Given the description of an element on the screen output the (x, y) to click on. 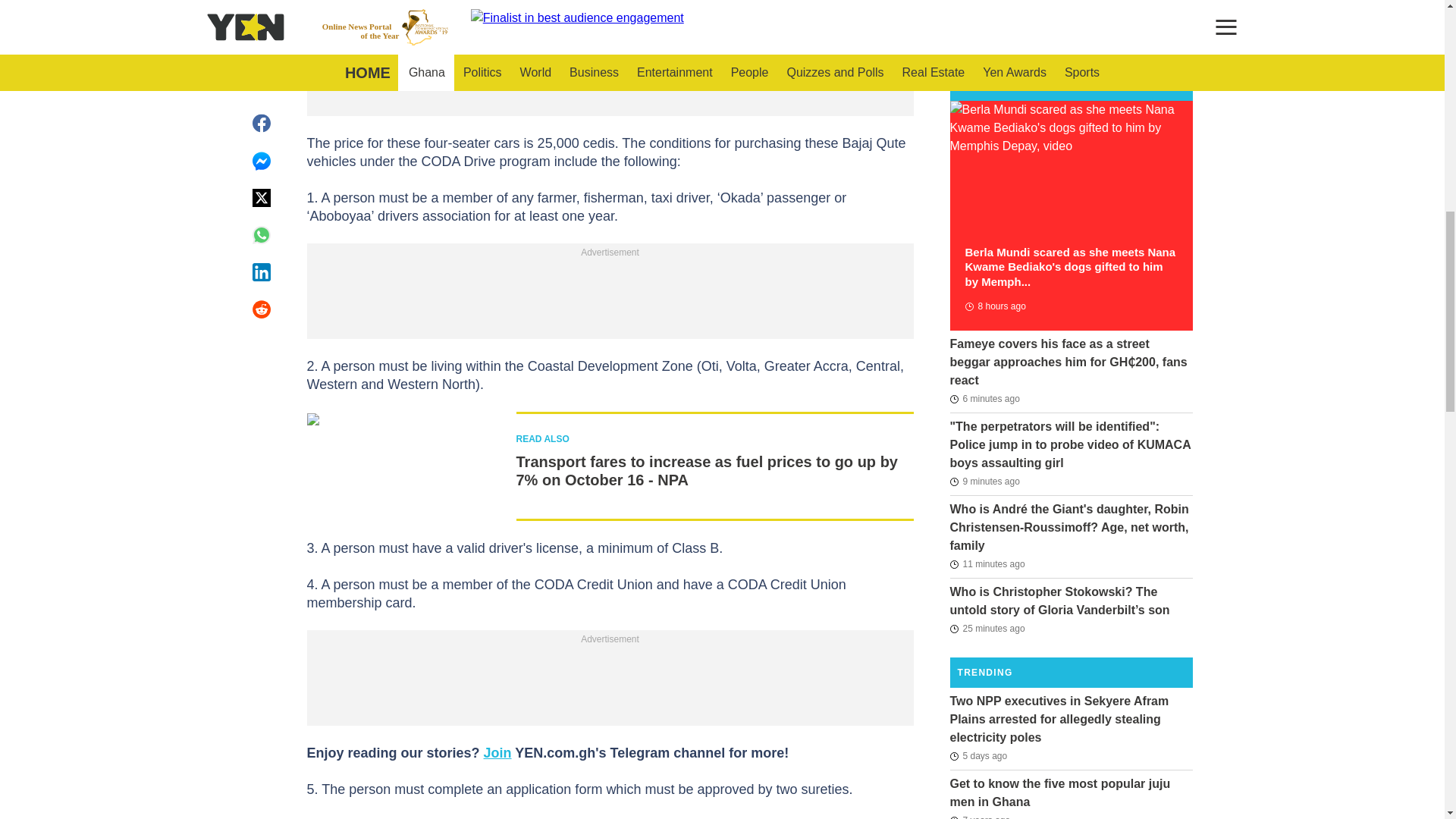
2024-08-14T18:47:57Z (987, 628)
2024-08-09T17:09:07Z (978, 755)
2024-08-14T10:36:32Z (994, 306)
2016-08-23T18:36:24Z (979, 815)
2024-08-14T19:04:41Z (984, 481)
2024-08-14T19:07:06Z (984, 398)
2024-08-14T19:02:43Z (987, 564)
